Given the description of an element on the screen output the (x, y) to click on. 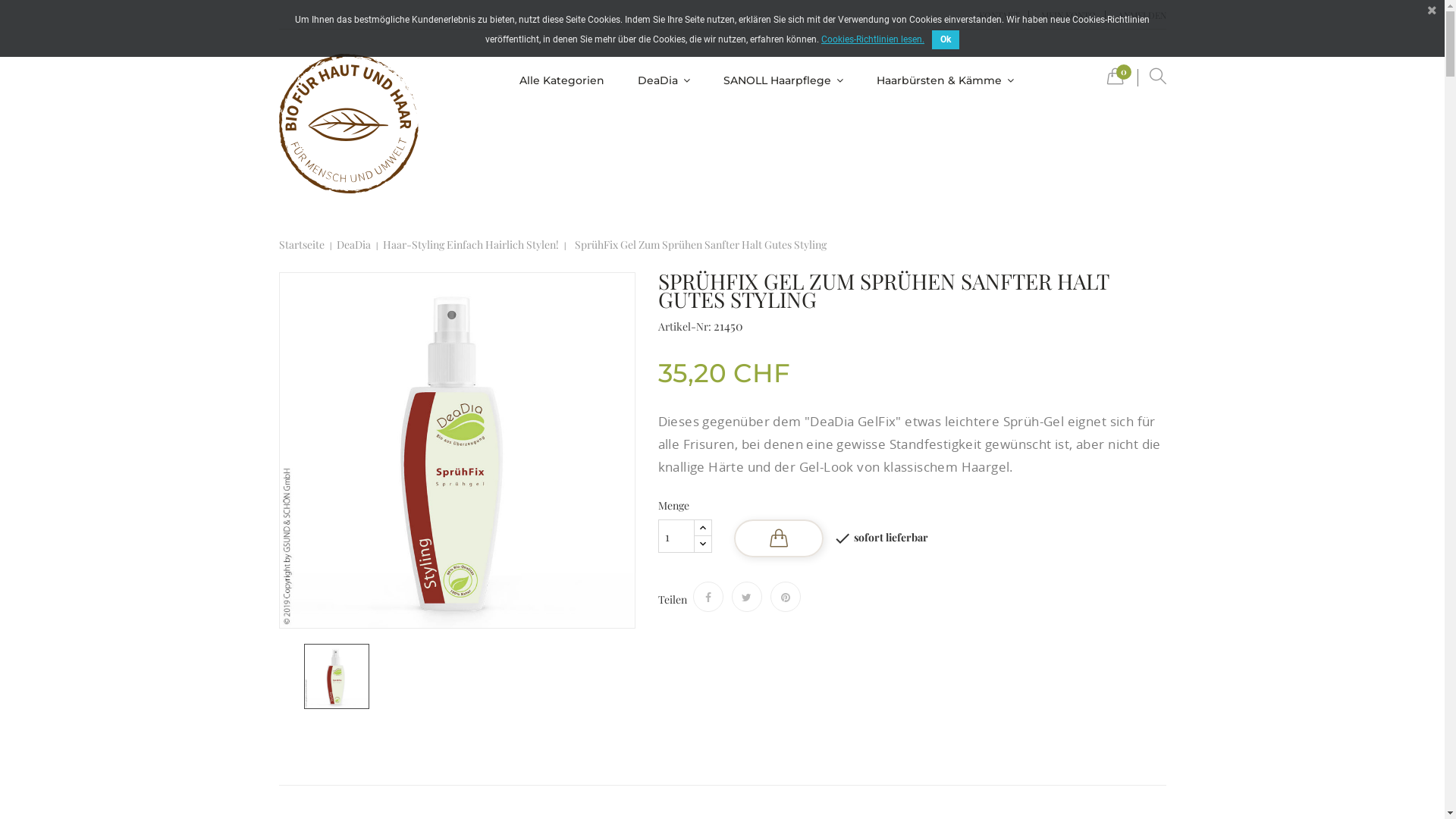
Aktualisieren Element type: text (37, 11)
Teilen Element type: hover (708, 596)
Ok Element type: text (945, 39)
DeaDia Element type: text (663, 80)
IN DEN WARENKORB Element type: text (778, 538)
KONTAKT Element type: text (998, 15)
ANMELDEN Element type: text (1137, 15)
Startseite Element type: text (301, 244)
SANOLL Haarpflege Element type: text (782, 80)
Alle Kategorien Element type: text (561, 80)
Tweet Element type: hover (746, 596)
Haar-Styling Einfach Hairlich Stylen! Element type: text (470, 244)
DeaDia Element type: text (353, 244)
Pinterest Element type: hover (785, 596)
MEIN KONTO Element type: text (1067, 15)
Cookies-Richtlinien lesen. Element type: text (872, 38)
0 Element type: text (1115, 80)
